Given the description of an element on the screen output the (x, y) to click on. 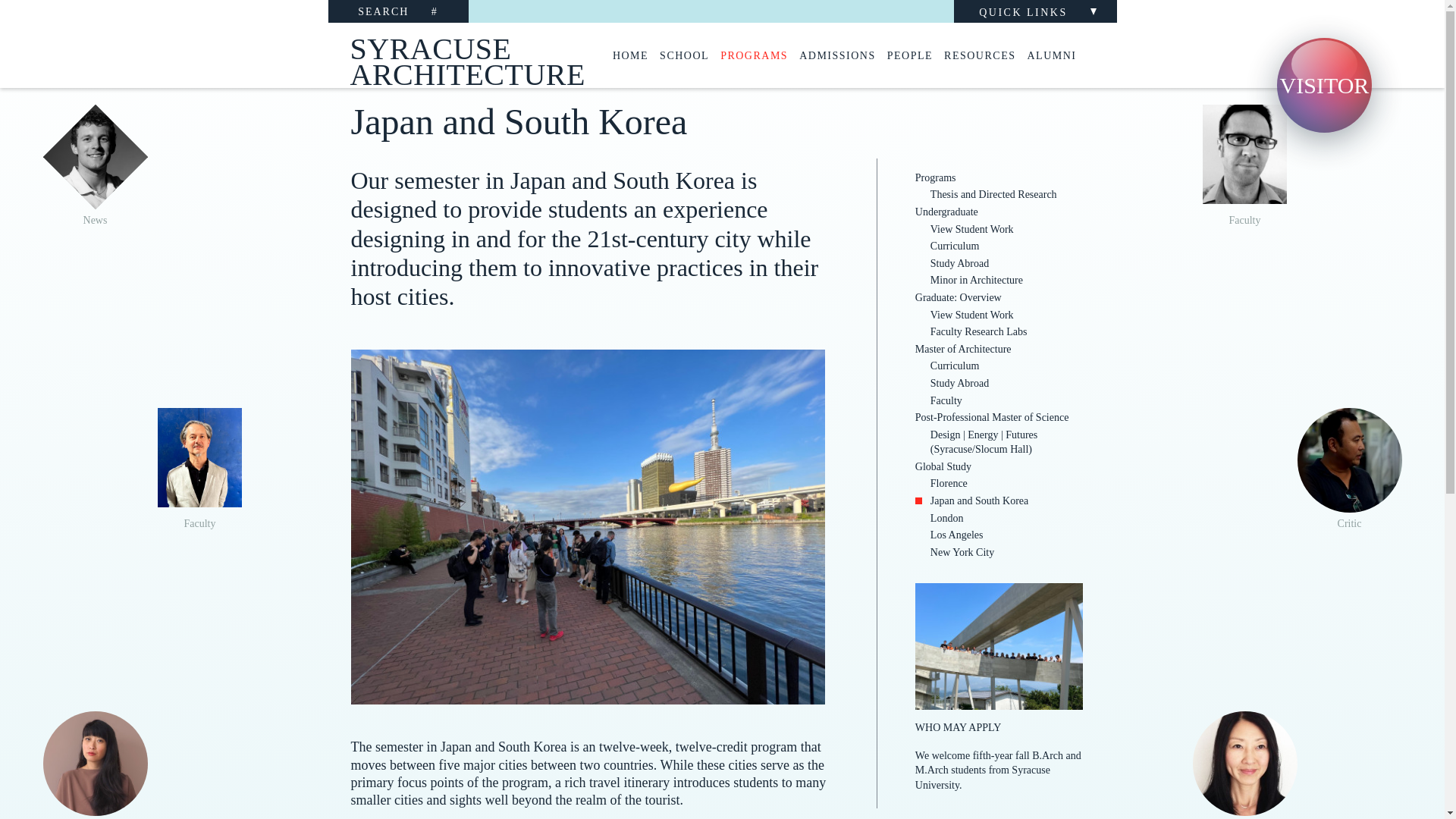
VISITOR (1324, 84)
PROGRAMS (753, 56)
SCHOOL (684, 56)
HOME (629, 56)
SYRACUSE ARCHITECTURE (450, 54)
